Given the description of an element on the screen output the (x, y) to click on. 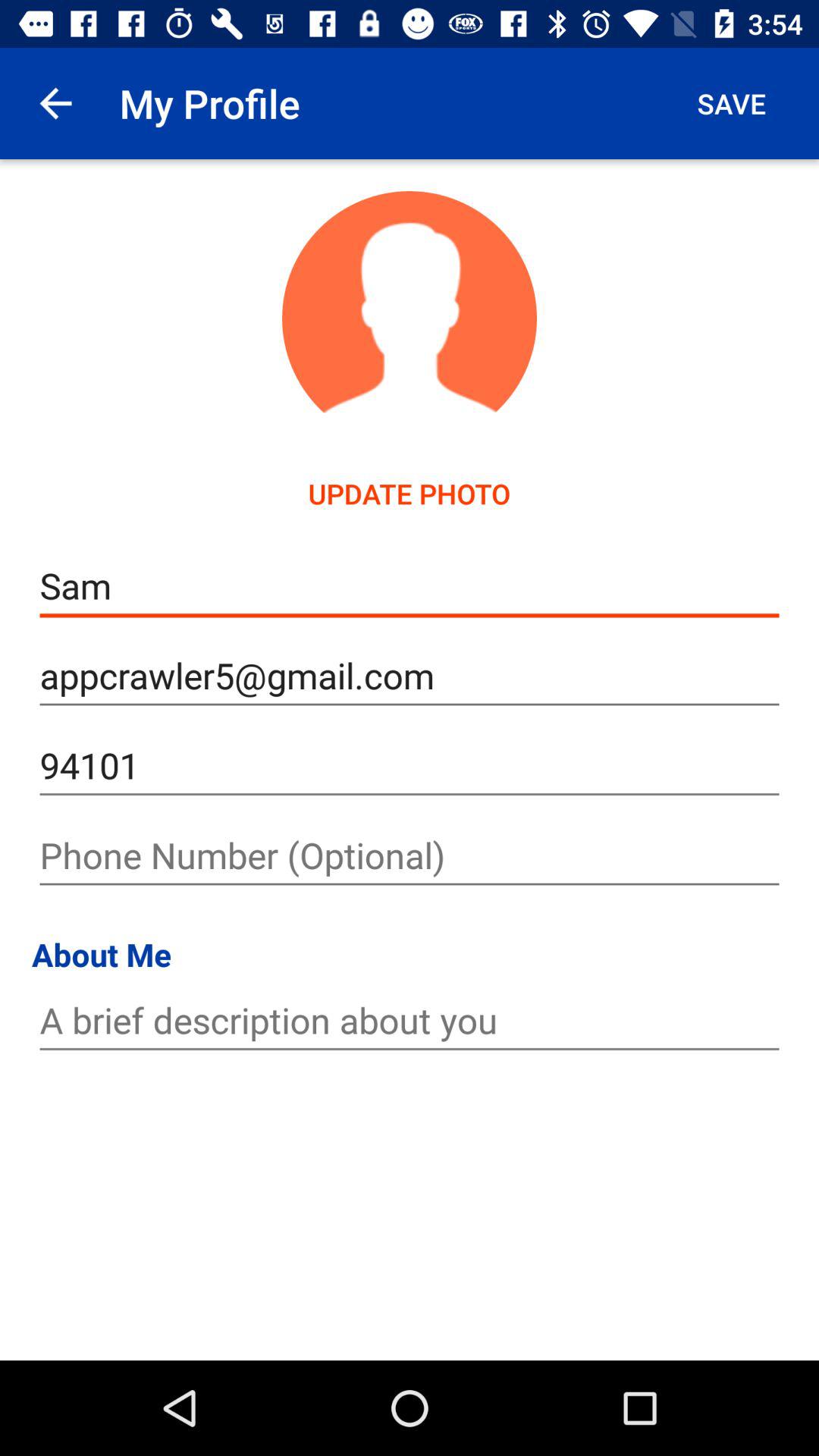
launch the icon above 94101 (409, 676)
